Given the description of an element on the screen output the (x, y) to click on. 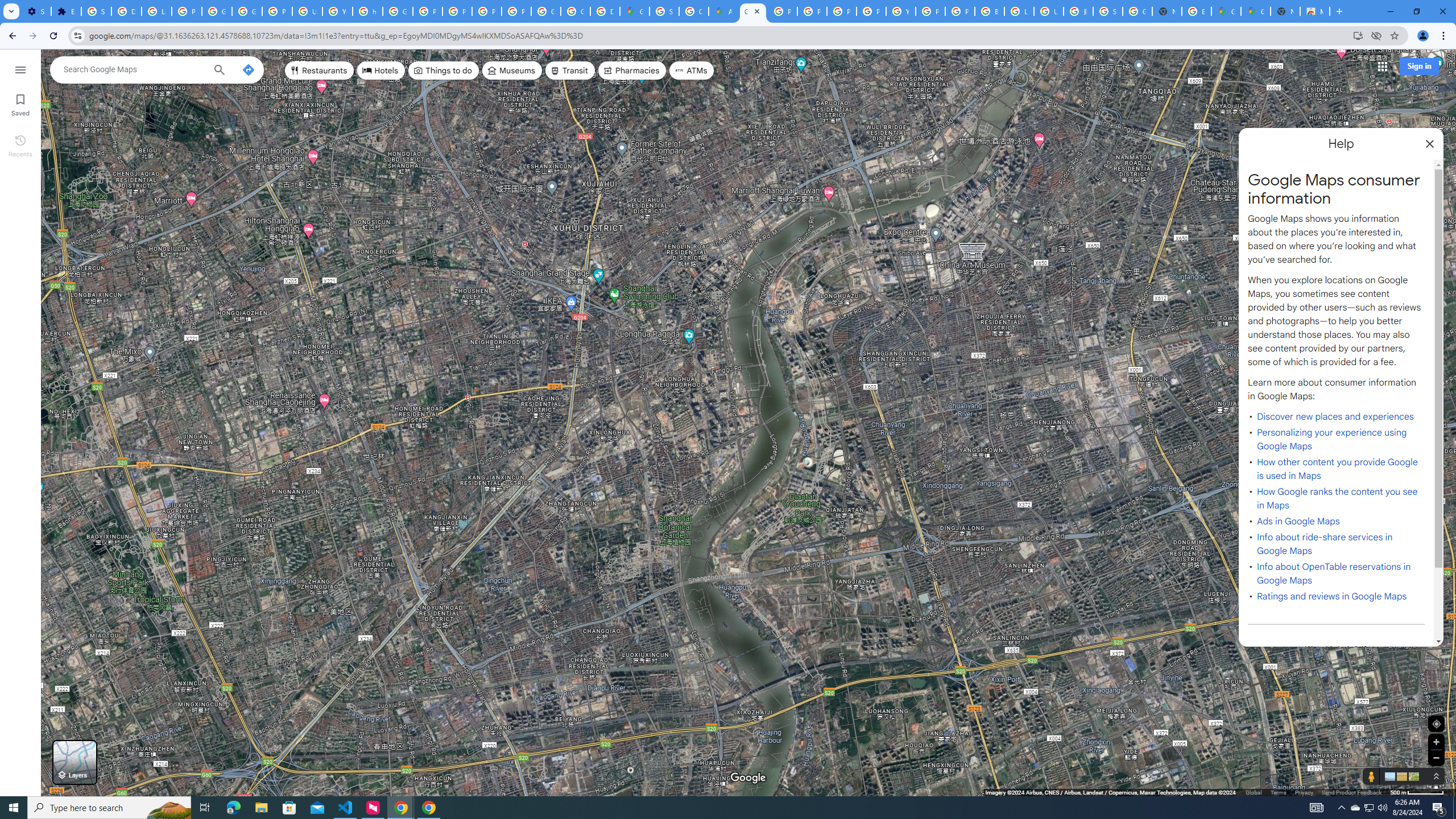
https://scholar.google.com/ (367, 11)
Privacy Help Center - Policies Help (426, 11)
Policy Accountability and Transparency - Transparency Center (782, 11)
Google Maps (1226, 11)
Transit (569, 70)
Privacy Help Center - Policies Help (841, 11)
Ads in Google Maps (1297, 521)
Close Help Panel (1429, 144)
Hotels (381, 70)
